Given the description of an element on the screen output the (x, y) to click on. 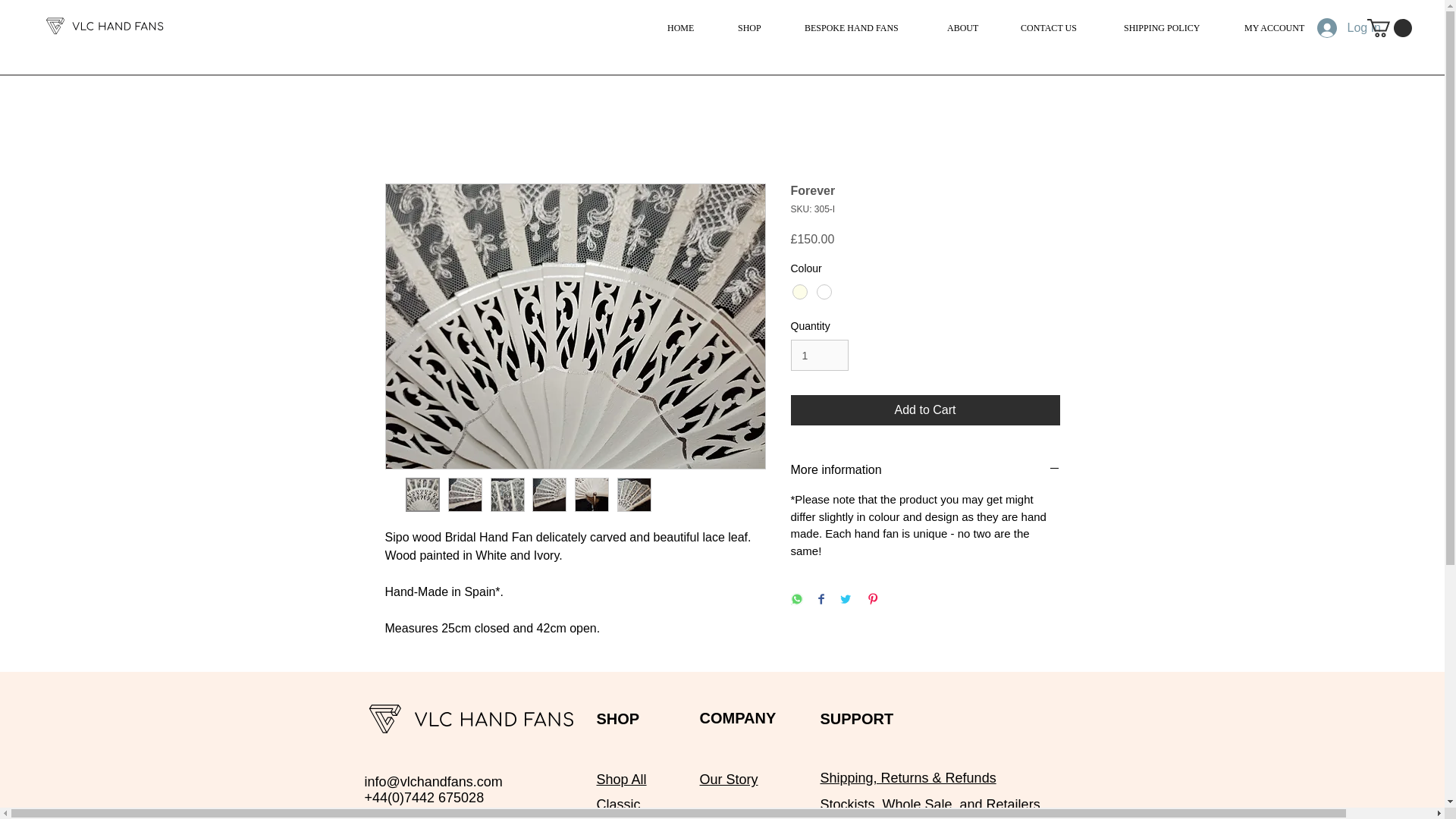
BESPOKE HAND FANS (857, 27)
SHIPPING POLICY (1165, 27)
Classic (617, 804)
More information (924, 469)
Shop All (620, 779)
Add to Cart (924, 409)
Our Story (727, 779)
SHOP (752, 27)
CONTACT US (1053, 27)
1 (818, 355)
